Given the description of an element on the screen output the (x, y) to click on. 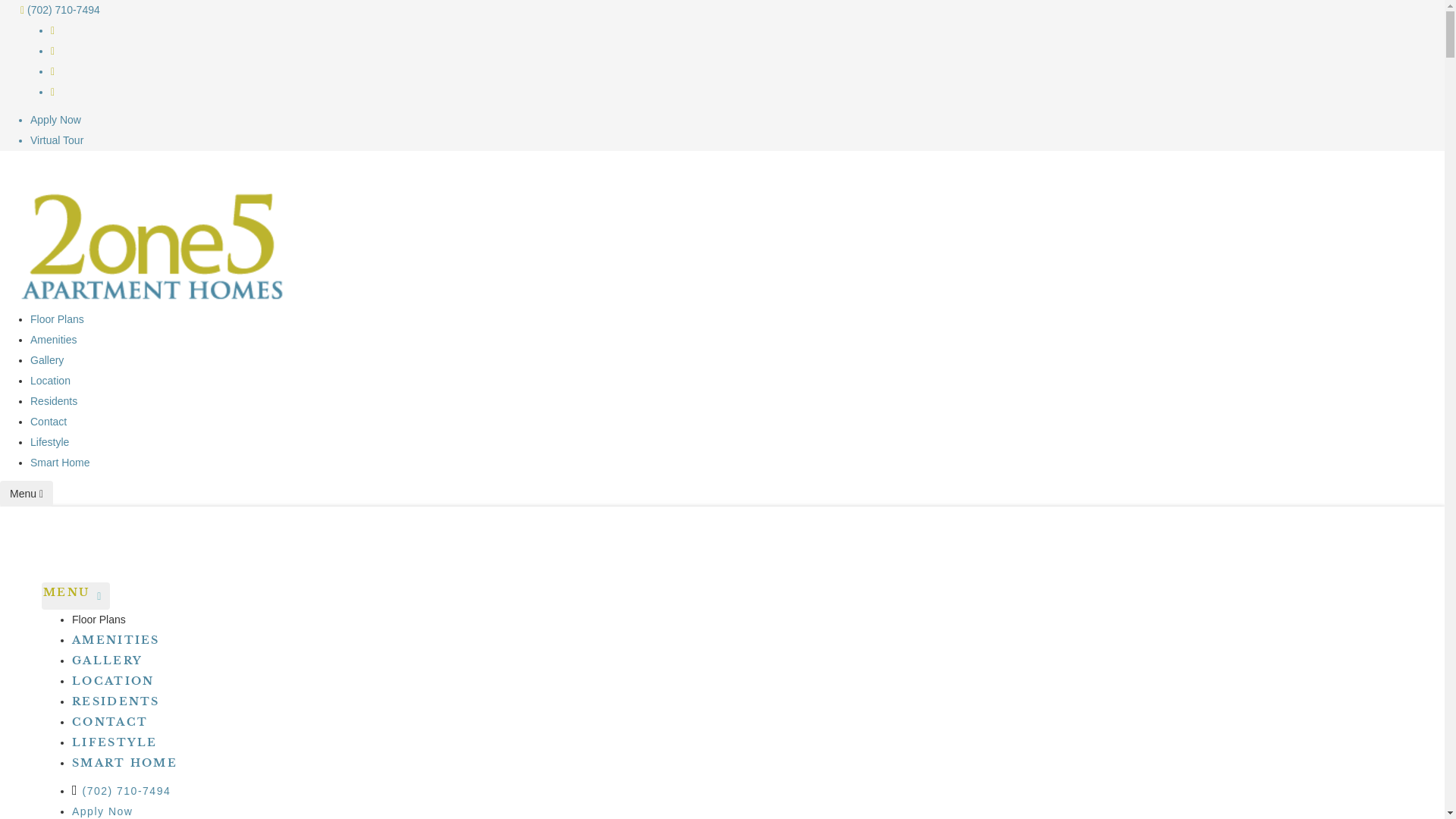
(702) 710-7494 Element type: text (60, 9)
LOCATION Element type: text (112, 680)
Floor Plans Element type: text (57, 319)
RESIDENTS Element type: text (116, 701)
CONTACT Element type: text (109, 721)
Location Element type: text (50, 380)
LIFESTYLE Element type: text (114, 742)
Lifestyle Element type: text (49, 442)
Gallery Element type: text (46, 360)
Residents Element type: text (53, 401)
Menu Element type: text (26, 493)
Virtual Tour Element type: text (56, 140)
Amenities Element type: text (53, 339)
(702) 710-7494 Element type: text (121, 790)
Contact Element type: text (48, 421)
AMENITIES Element type: text (116, 639)
Smart Home Element type: text (60, 462)
GALLERY Element type: text (107, 660)
Apply Now Element type: text (55, 119)
Apply Now Element type: text (102, 811)
SMART HOME Element type: text (124, 762)
